Given the description of an element on the screen output the (x, y) to click on. 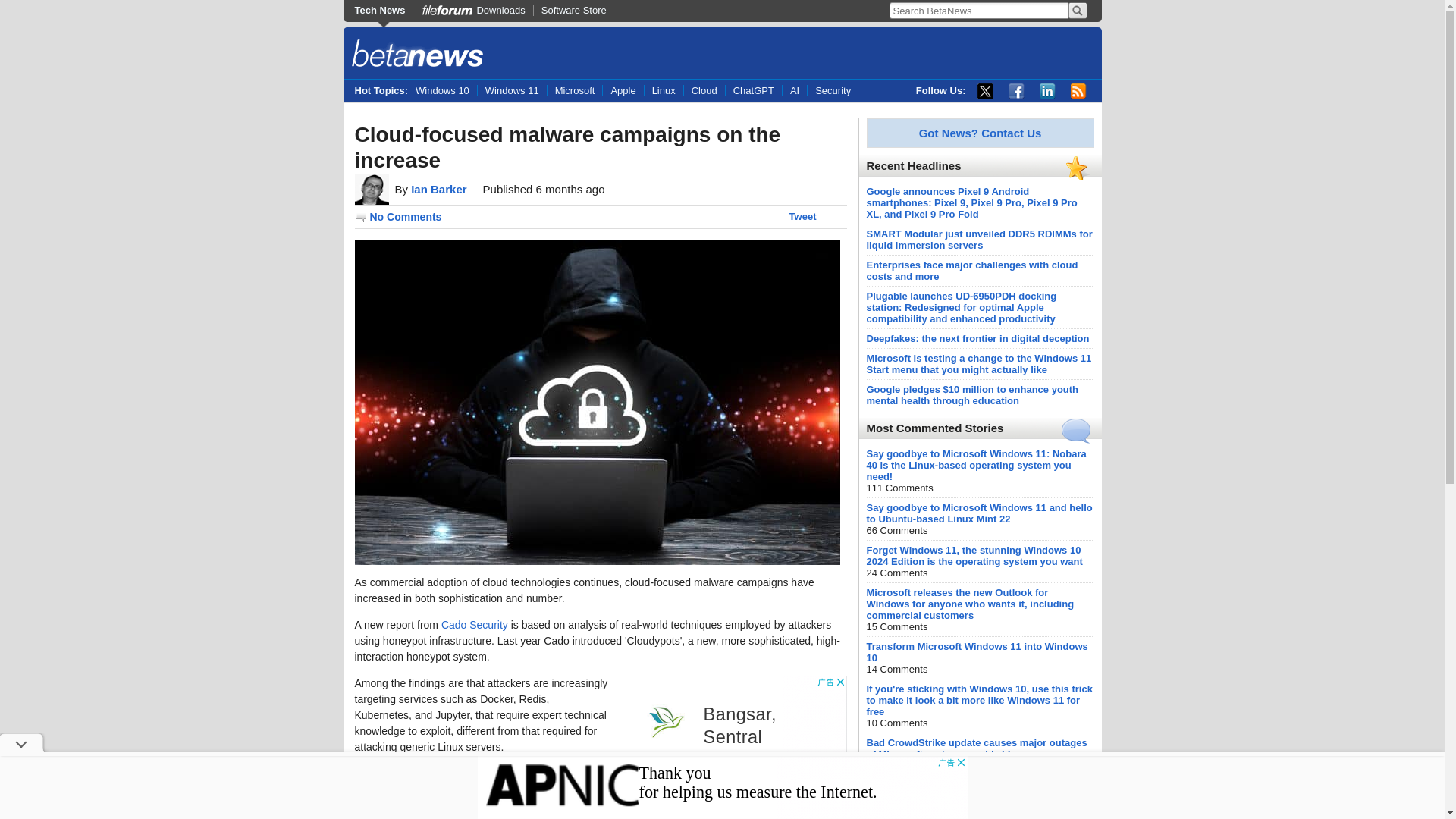
No Comments (398, 216)
Linked-in (1046, 91)
Cloud (703, 90)
Linux (662, 90)
Search (1076, 10)
Software Store (573, 9)
Advertisement (722, 787)
Deepfakes: the next frontier in digital deception (977, 337)
Windows 10 (445, 90)
